Given the description of an element on the screen output the (x, y) to click on. 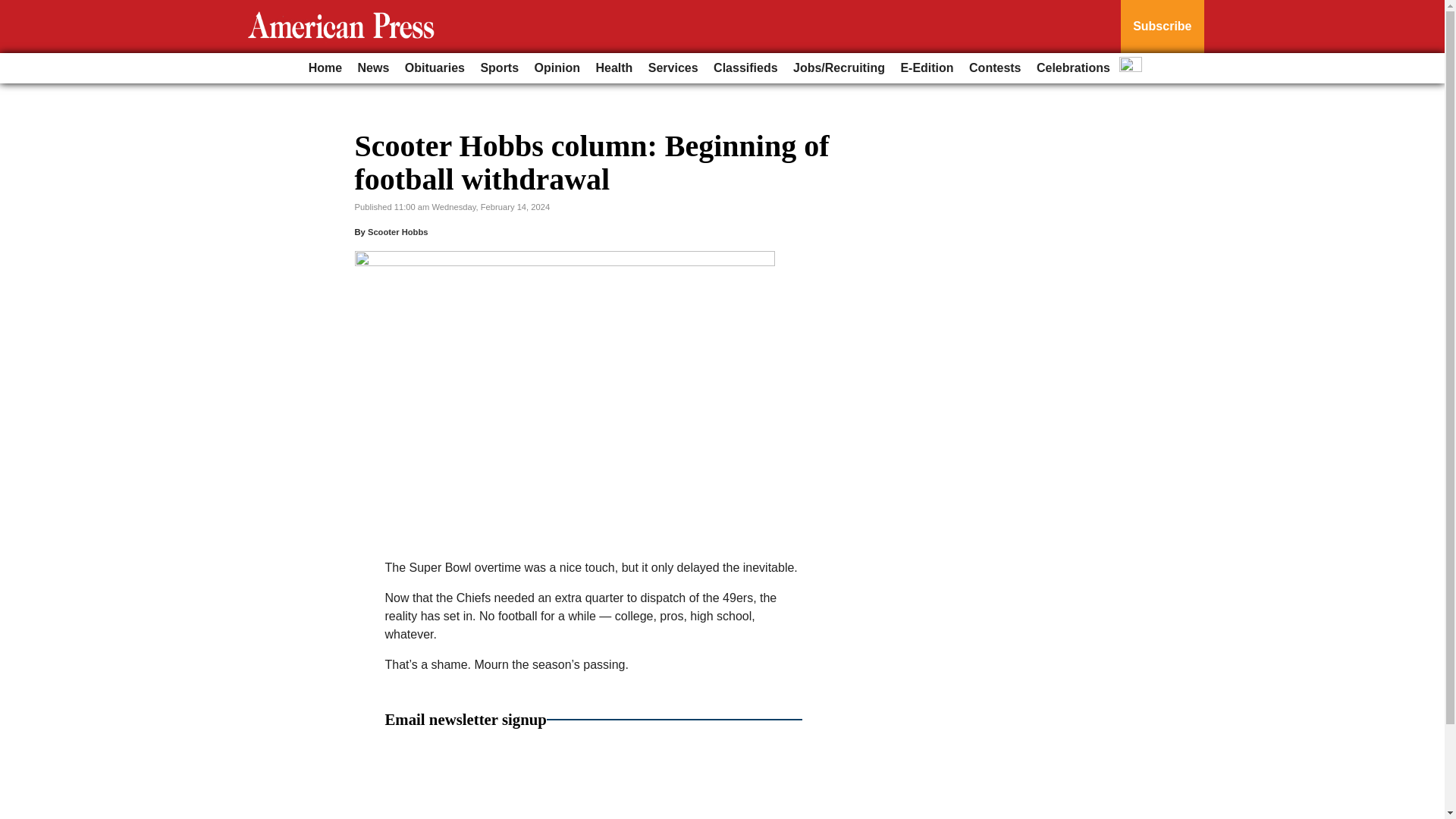
E-Edition (926, 68)
News (374, 68)
Celebrations (1073, 68)
Contests (994, 68)
Sports (499, 68)
Health (614, 68)
Home (324, 68)
Services (673, 68)
Subscribe (1162, 26)
Opinion (557, 68)
